Given the description of an element on the screen output the (x, y) to click on. 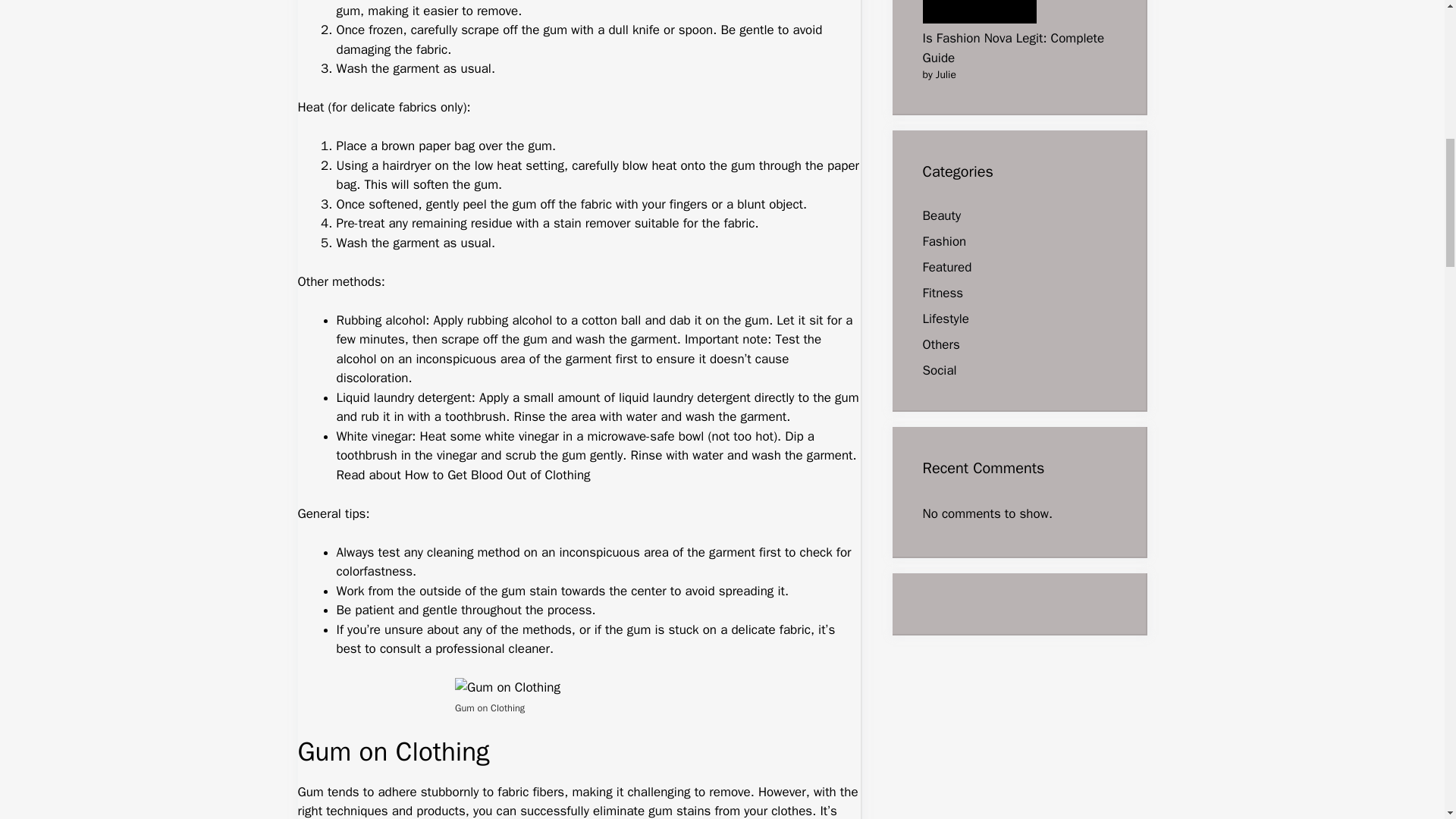
Others (940, 344)
Lifestyle (944, 318)
How to Get Blood Out of Clothing (497, 474)
Beauty (940, 215)
Social (938, 370)
Fashion (943, 241)
Fitness (941, 293)
Is Fashion Nova Legit: Complete Guide (1012, 48)
Featured (946, 267)
